Given the description of an element on the screen output the (x, y) to click on. 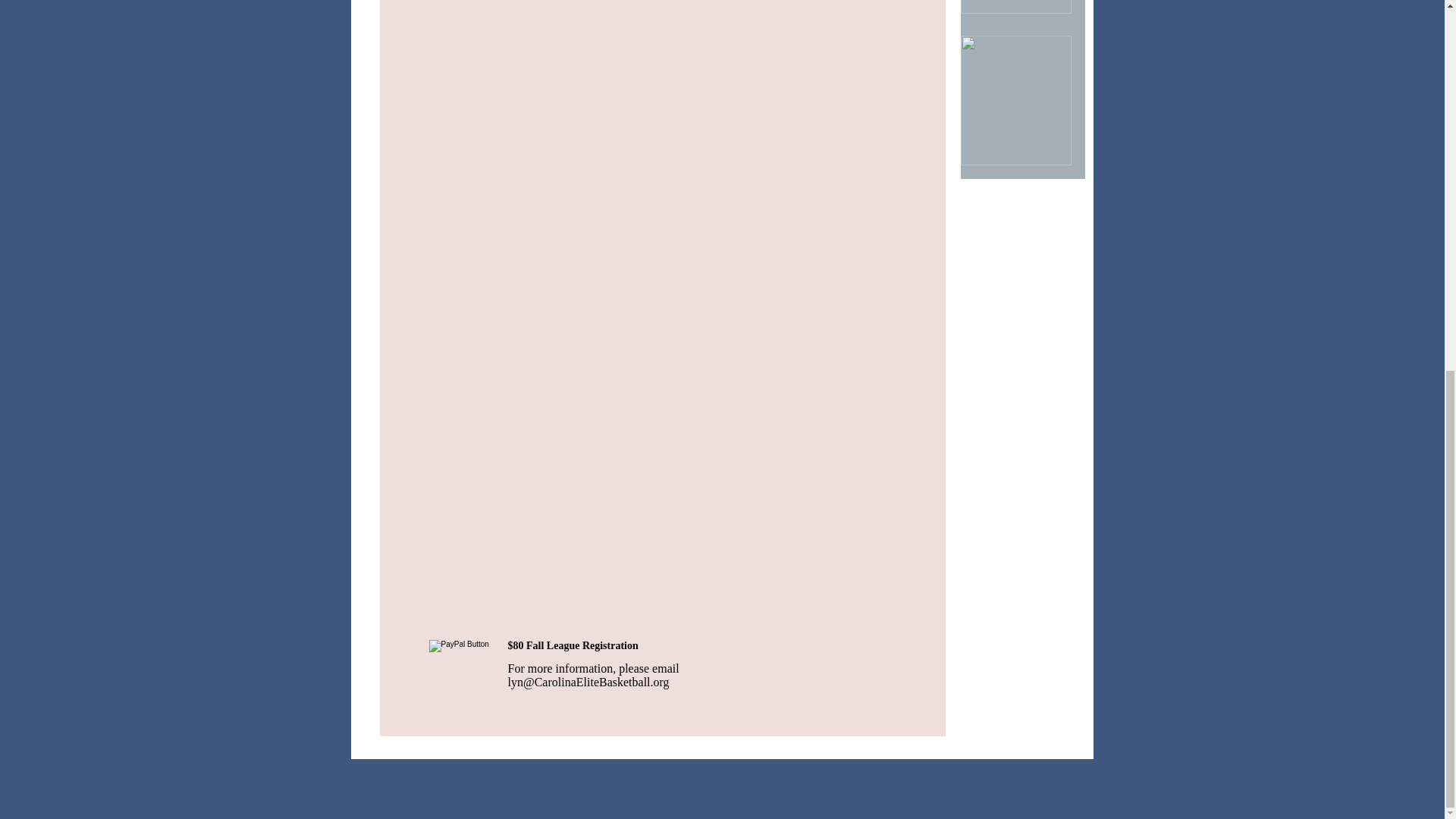
TN tourney1.jpg (1014, 100)
